Given the description of an element on the screen output the (x, y) to click on. 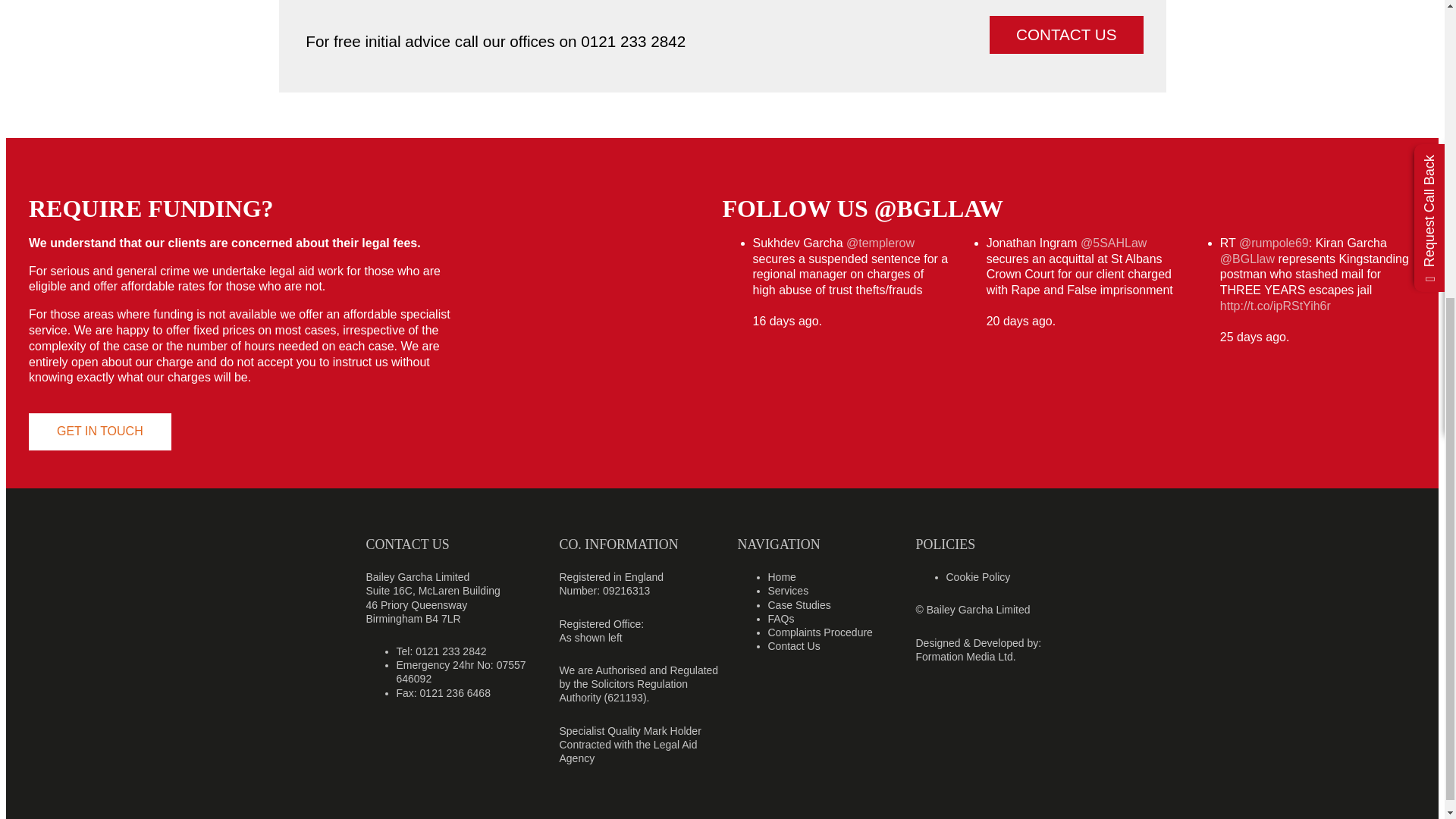
Complaints Procedure (819, 632)
Services (787, 590)
Cookie Policy (978, 576)
Contact Us (793, 645)
GET IN TOUCH (100, 431)
Case Studies (798, 604)
FAQs (780, 618)
Formation Media Ltd. (965, 656)
CONTACT US (1066, 34)
Home (780, 576)
